Given the description of an element on the screen output the (x, y) to click on. 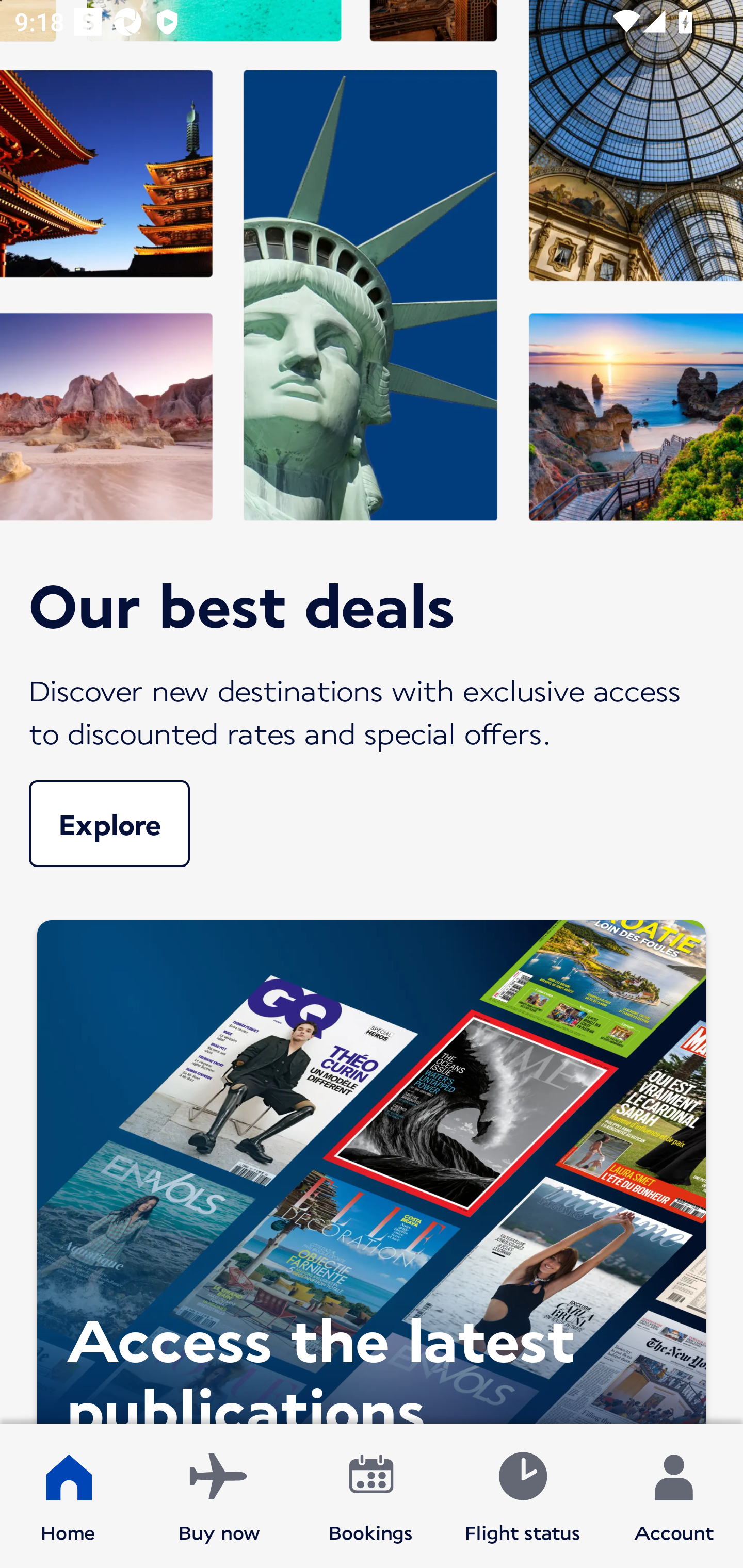
Access the latest publications (371, 1167)
Buy now (219, 1495)
Bookings (370, 1495)
Flight status (522, 1495)
Account (674, 1495)
